Given the description of an element on the screen output the (x, y) to click on. 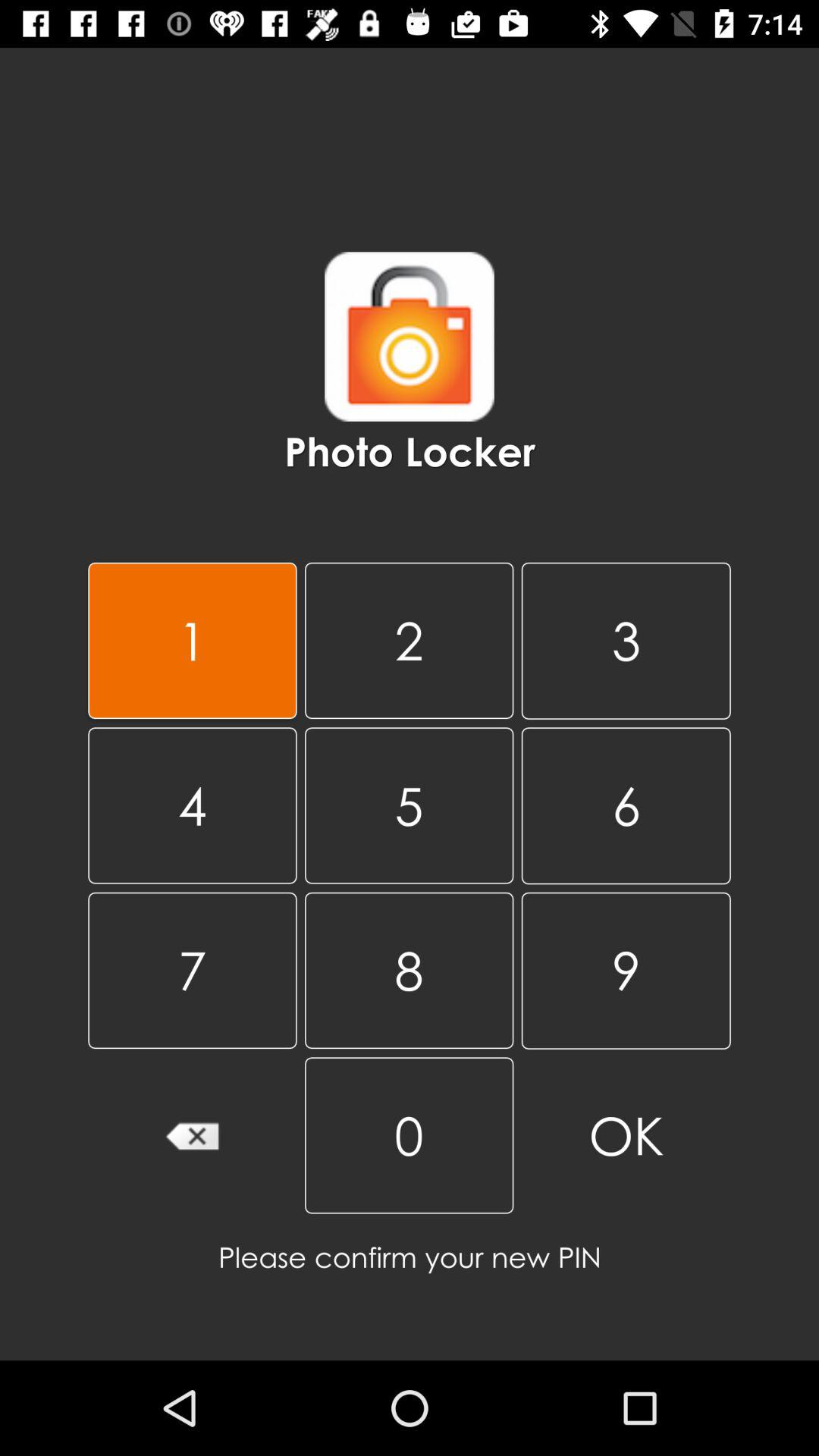
select icon to the right of the 4 item (408, 970)
